Given the description of an element on the screen output the (x, y) to click on. 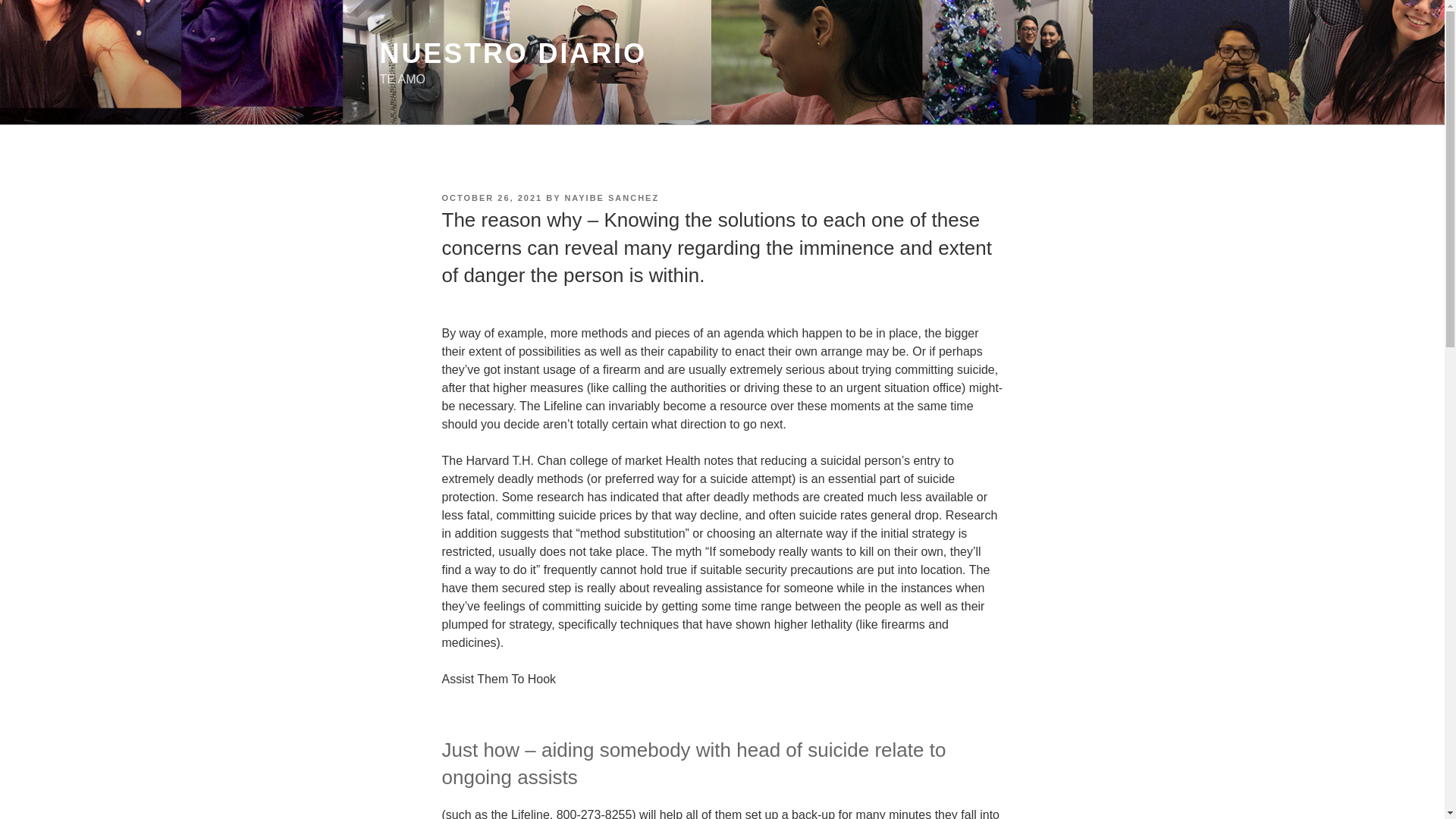
NUESTRO DIARIO (512, 52)
OCTOBER 26, 2021 (491, 197)
NAYIBE SANCHEZ (611, 197)
